Given the description of an element on the screen output the (x, y) to click on. 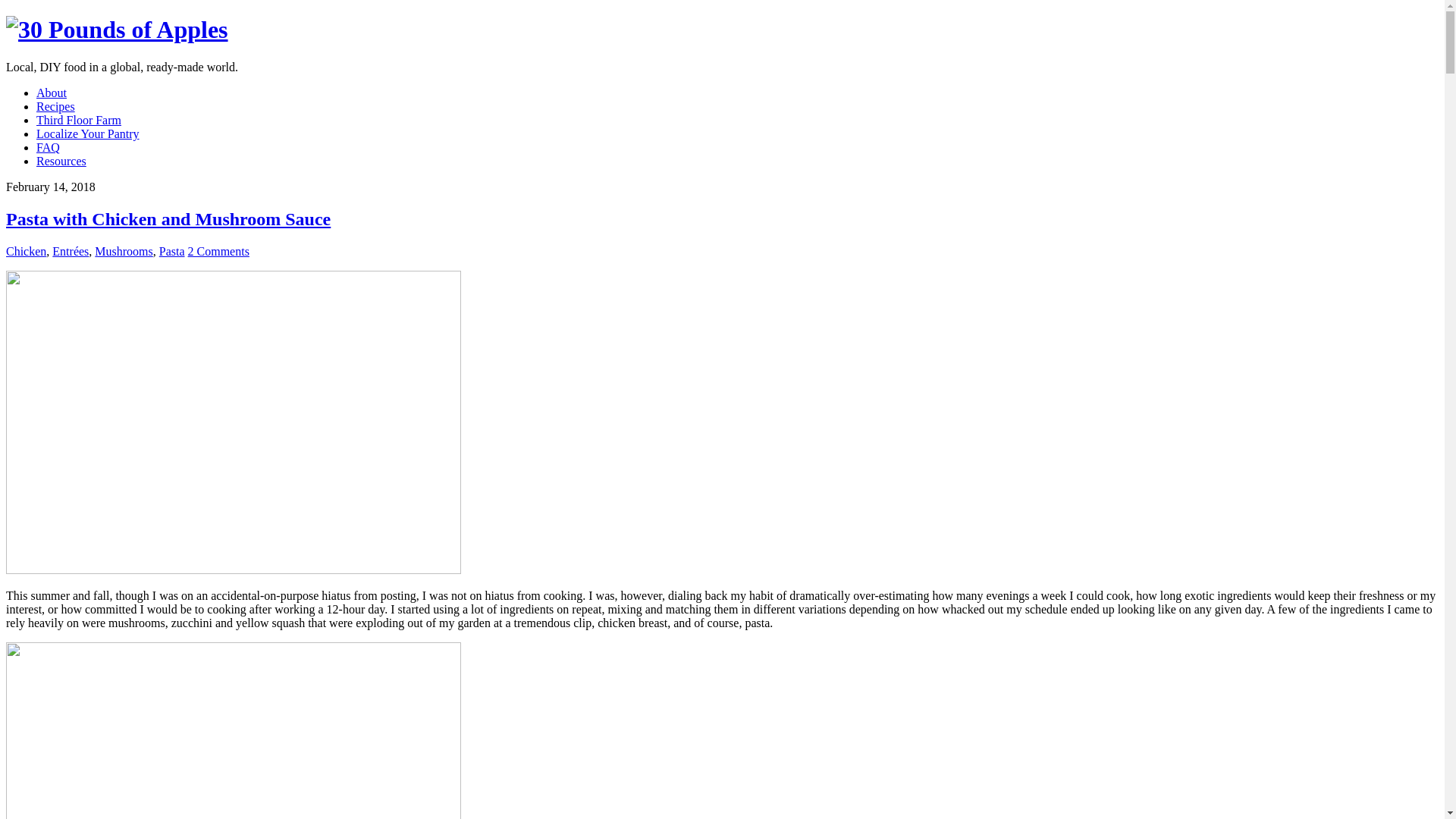
Resources Element type: text (61, 160)
FAQ Element type: text (47, 147)
Mushrooms Element type: text (123, 250)
Localize Your Pantry Element type: text (87, 133)
Third Floor Farm Element type: text (78, 119)
Recipes Element type: text (55, 106)
Chicken Element type: text (26, 250)
30 Pounds of Apples Element type: hover (117, 29)
Pasta with Chicken and Mushroom Sauce Element type: text (168, 219)
About Element type: text (51, 92)
2 Comments Element type: text (218, 250)
30 Pounds of Apples Element type: hover (117, 29)
Pasta Element type: text (172, 250)
